Given the description of an element on the screen output the (x, y) to click on. 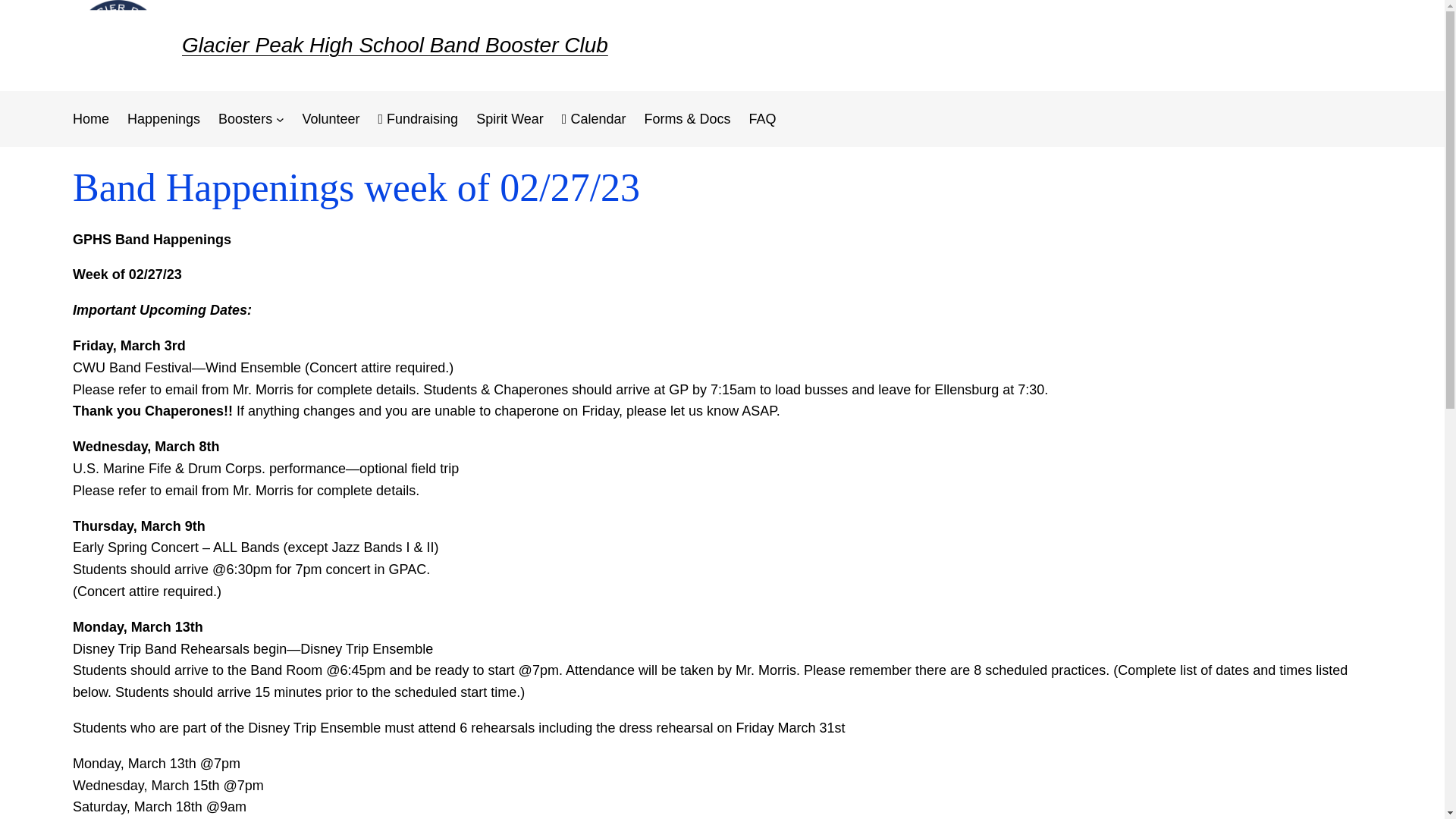
Happenings (164, 118)
FAQ (762, 118)
Volunteer (330, 118)
Home (90, 118)
Glacier Peak High School Band Booster Club (395, 44)
Spirit Wear (509, 118)
Boosters (245, 118)
